Given the description of an element on the screen output the (x, y) to click on. 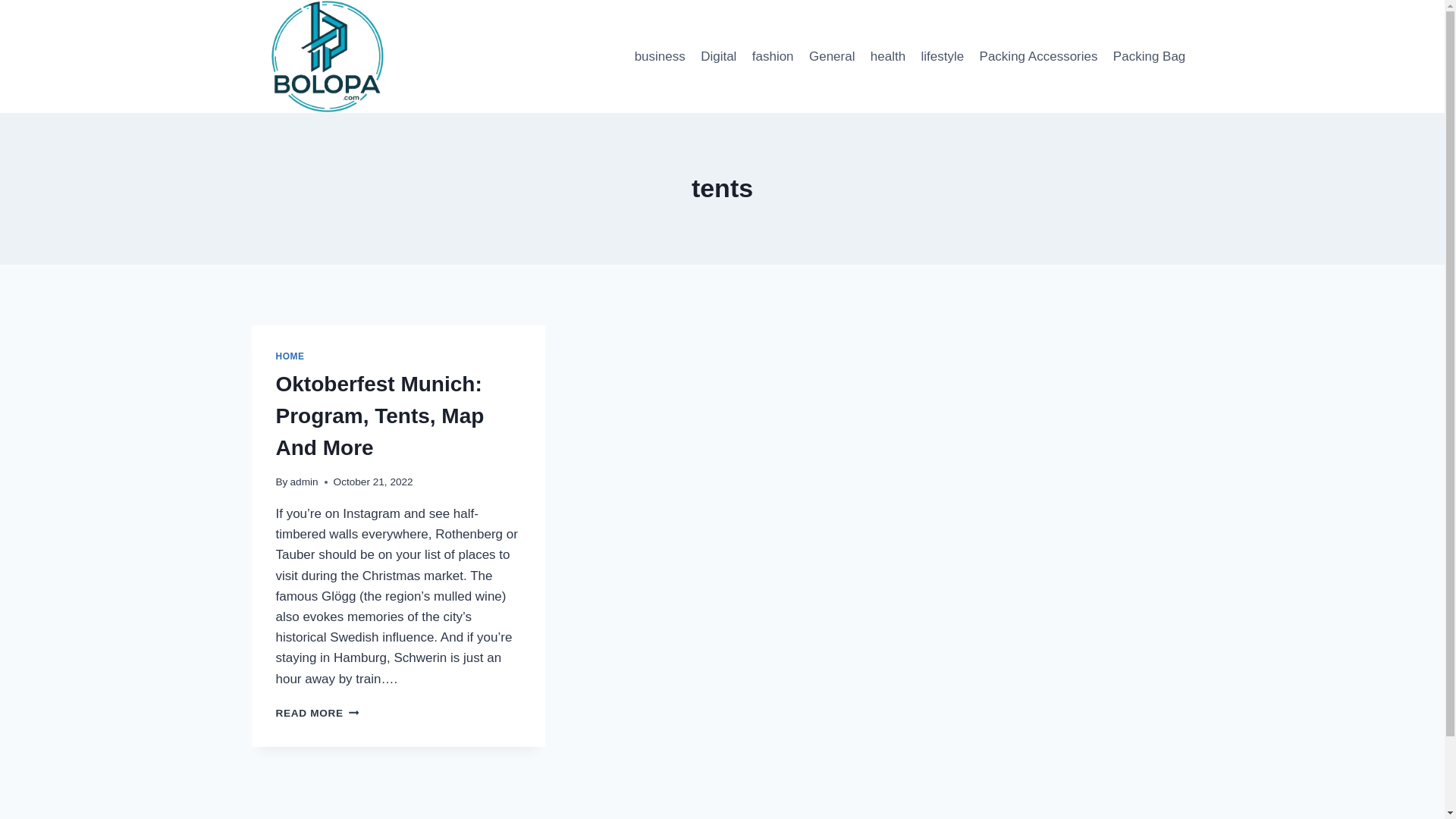
admin (303, 481)
health (888, 56)
lifestyle (941, 56)
General (832, 56)
Packing Accessories (1038, 56)
HOME (290, 356)
Oktoberfest Munich: Program, Tents, Map And More (380, 415)
business (317, 713)
Packing Bag (659, 56)
